Given the description of an element on the screen output the (x, y) to click on. 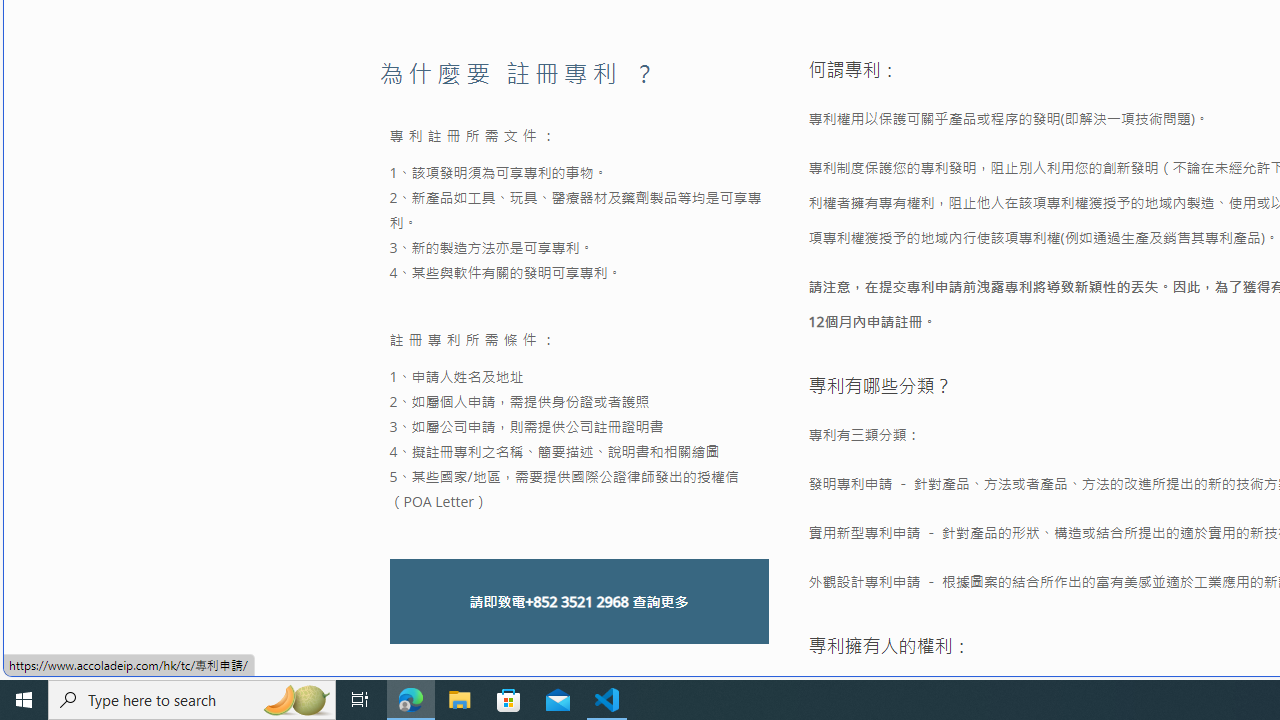
+852 3521 2968 (576, 601)
